Given the description of an element on the screen output the (x, y) to click on. 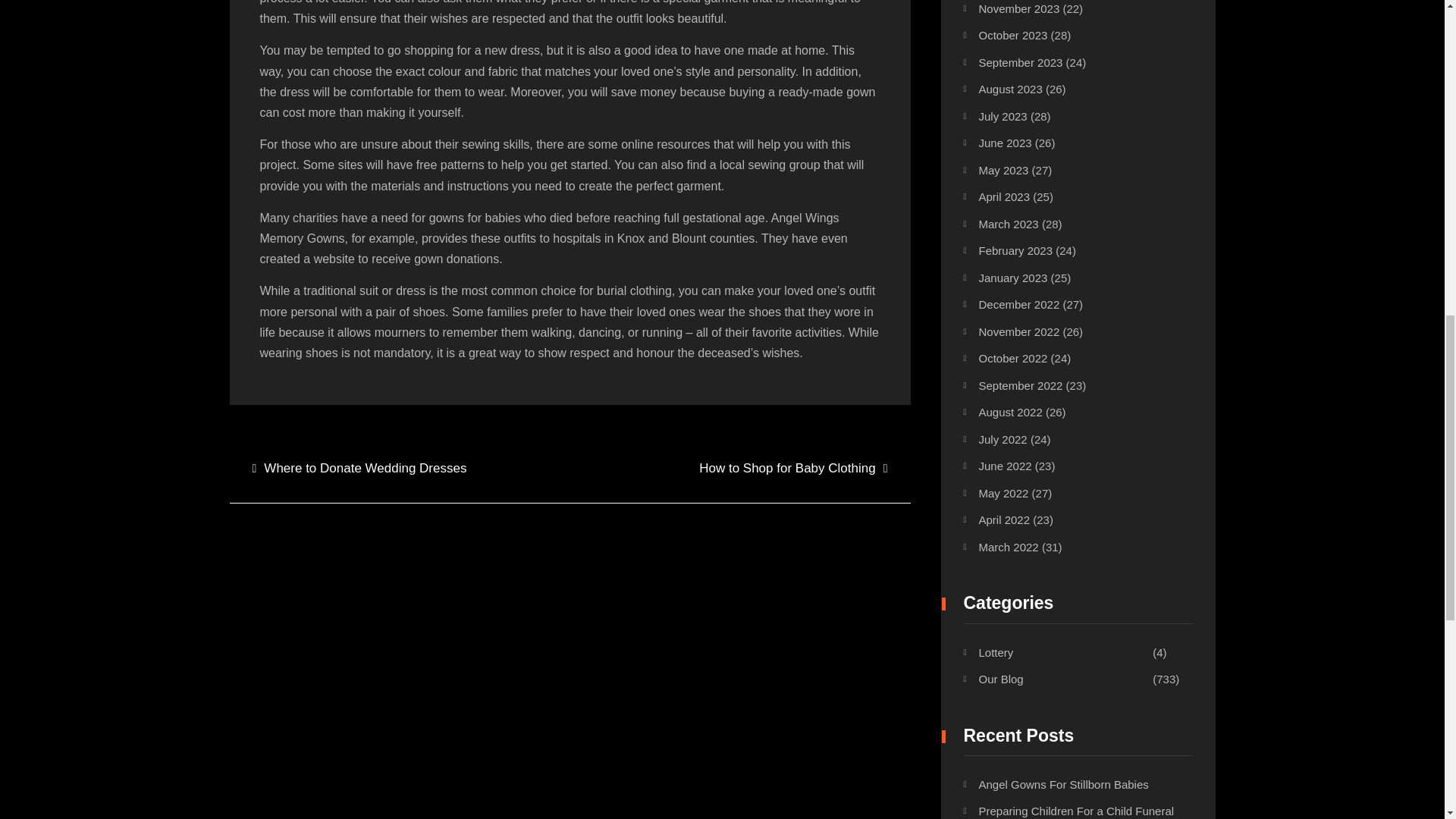
June 2023 (1004, 142)
August 2023 (1010, 88)
December 2022 (1018, 304)
January 2023 (1012, 277)
October 2023 (1012, 34)
September 2023 (1020, 62)
November 2023 (1018, 8)
March 2023 (1008, 223)
November 2022 (1018, 331)
May 2023 (1002, 169)
April 2023 (1003, 196)
February 2023 (1015, 250)
Where to Donate Wedding Dresses (358, 468)
How to Shop for Baby Clothing (792, 468)
July 2023 (1002, 115)
